Given the description of an element on the screen output the (x, y) to click on. 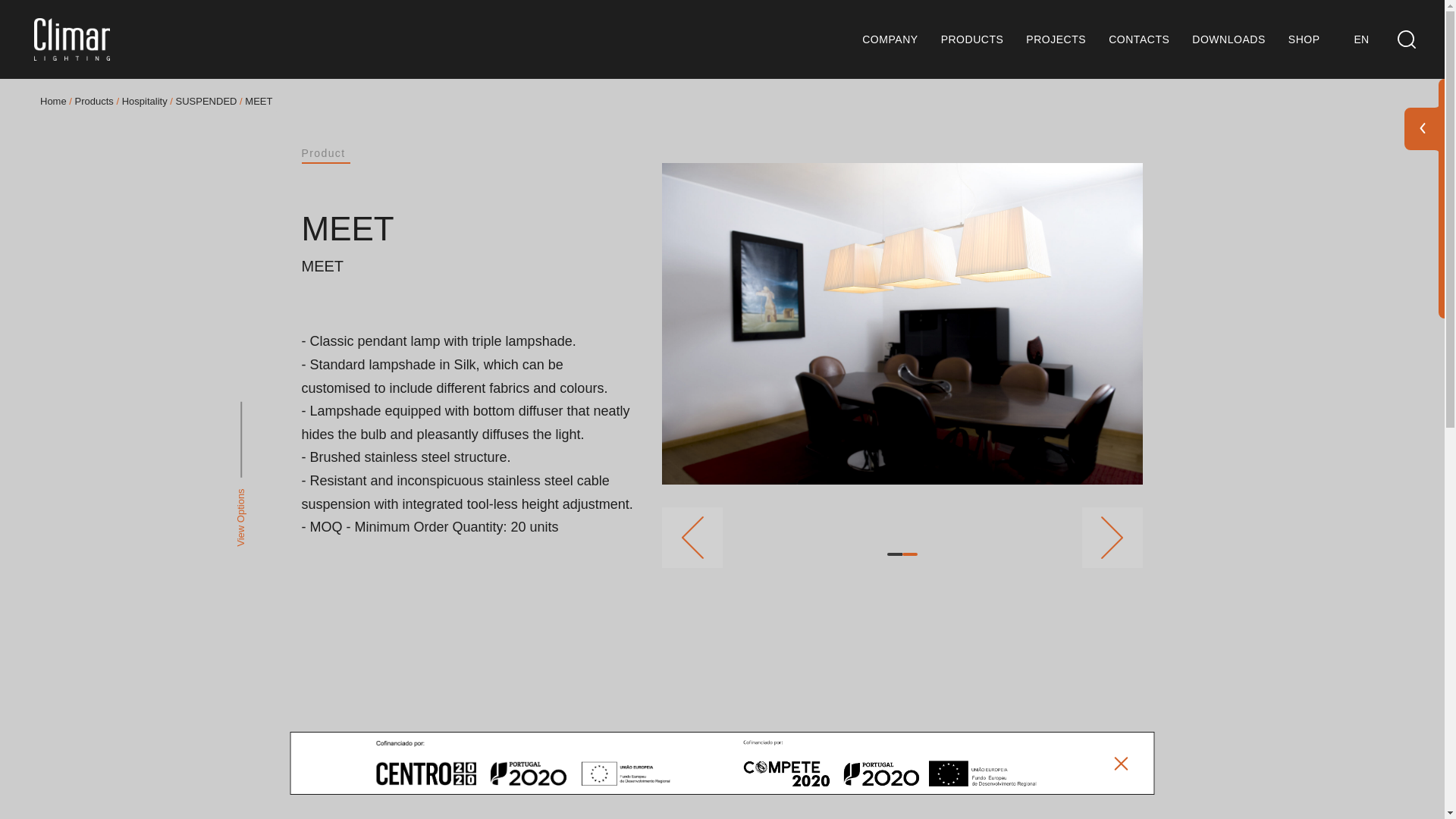
COMPANY (889, 39)
MEET (470, 265)
SHOP (1304, 39)
PRODUCTS (972, 39)
DOWNLOADS (1228, 39)
PROJECTS (1056, 39)
CONTACTS (1138, 39)
MEET (470, 228)
